Given the description of an element on the screen output the (x, y) to click on. 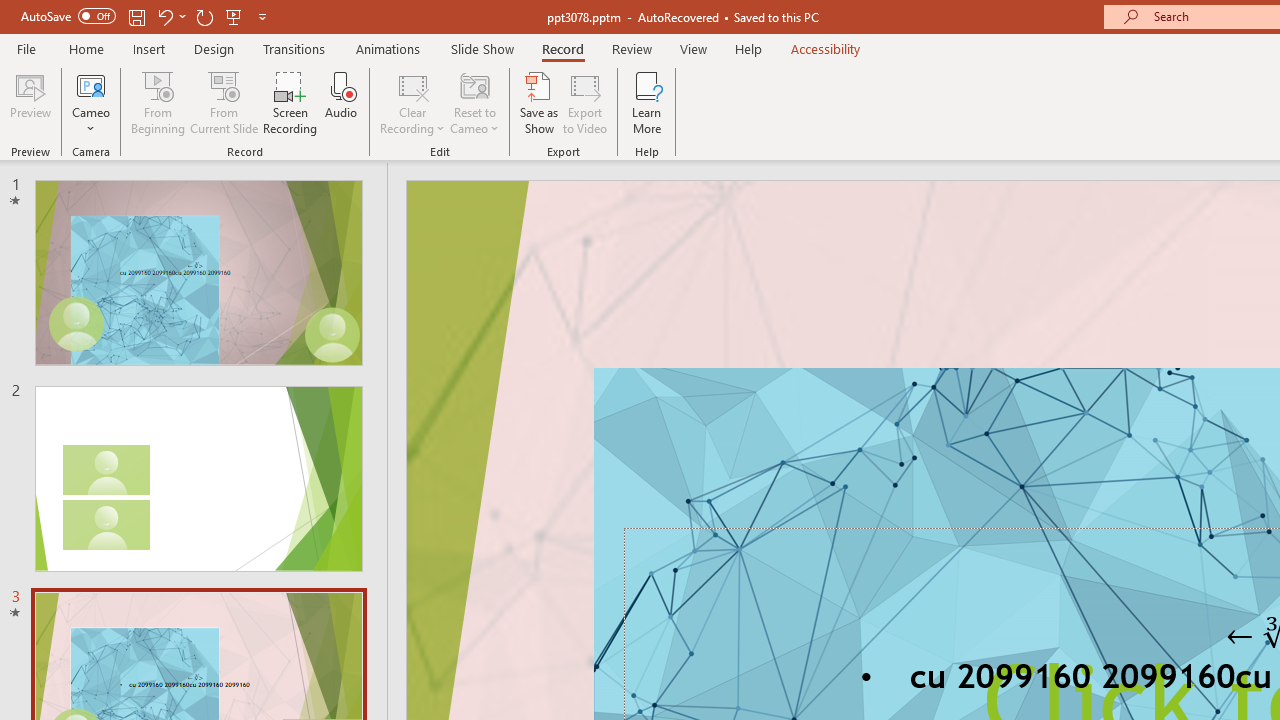
Screen Recording (290, 102)
Reset to Cameo (474, 102)
From Beginning... (158, 102)
From Current Slide... (224, 102)
